Given the description of an element on the screen output the (x, y) to click on. 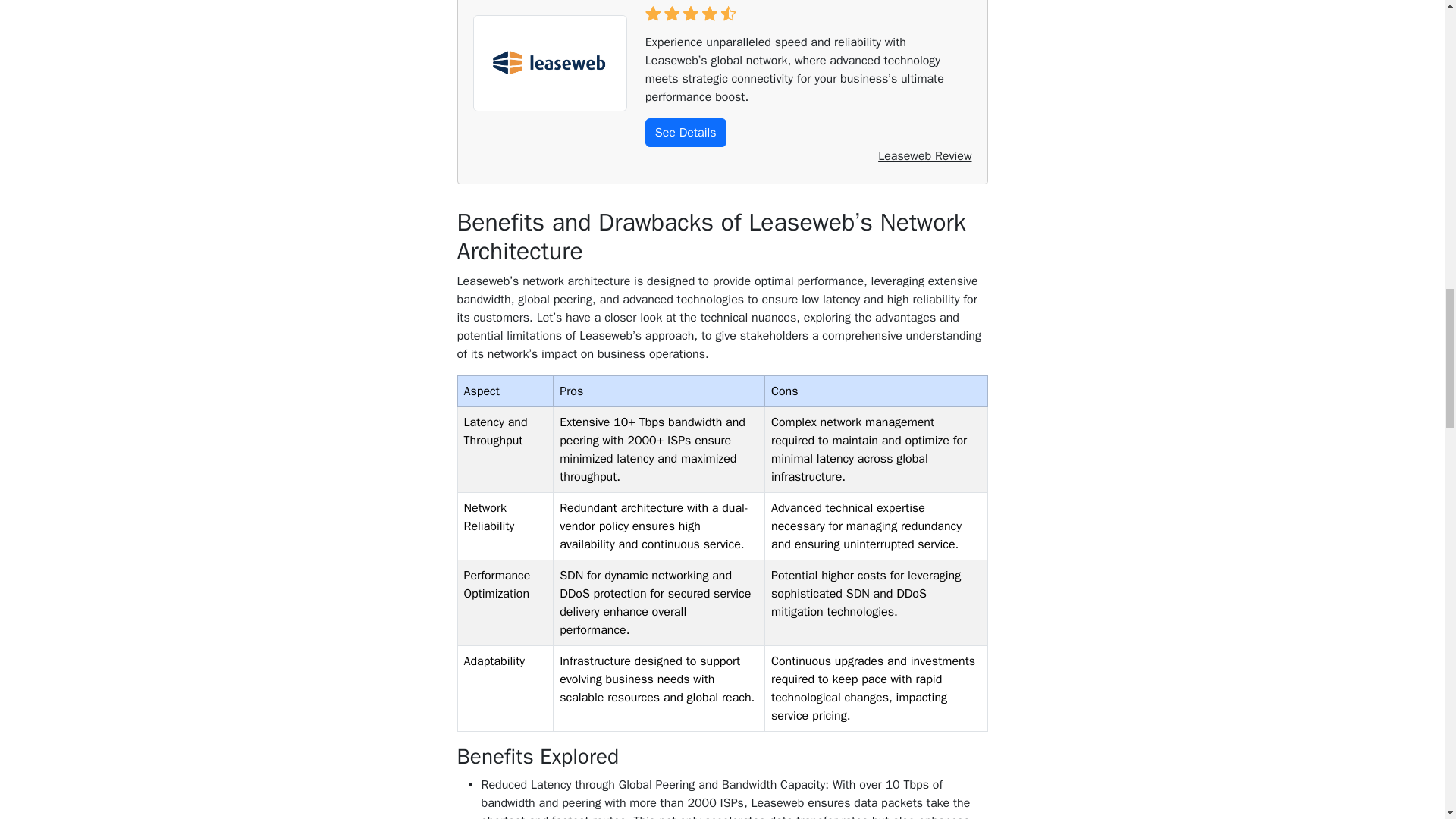
Leaseweb Review (924, 156)
See Details (685, 132)
